Given the description of an element on the screen output the (x, y) to click on. 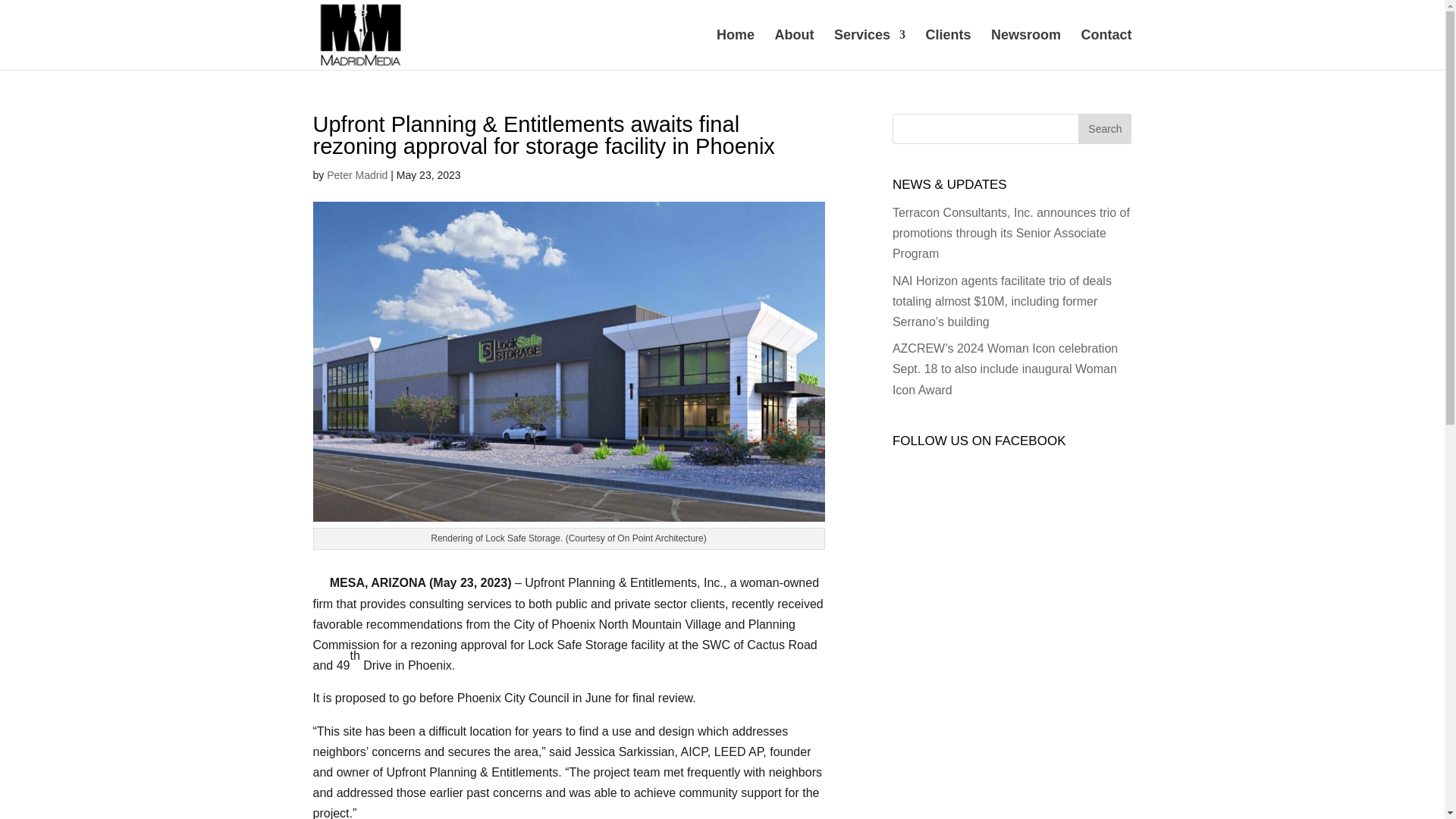
Search (1104, 128)
Clients (948, 49)
Home (735, 49)
Search (1104, 128)
Newsroom (1026, 49)
Contact (1106, 49)
About (793, 49)
Services (869, 49)
Peter Madrid (356, 174)
Posts by Peter Madrid (356, 174)
